Given the description of an element on the screen output the (x, y) to click on. 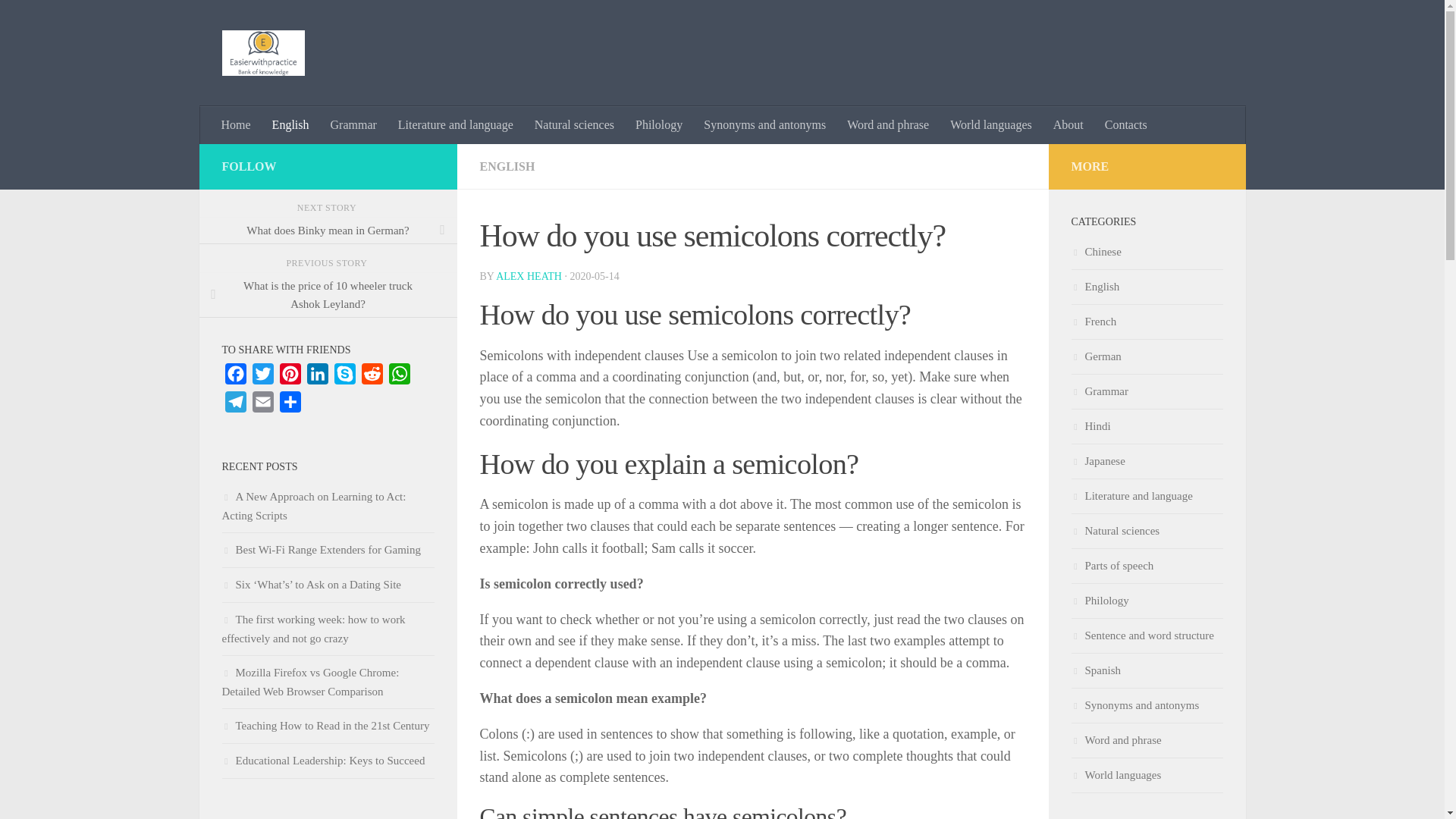
Natural sciences (574, 125)
What does Binky mean in German? (327, 230)
English (291, 125)
ENGLISH (506, 165)
Contacts (1125, 125)
Twitter (262, 377)
ALEX HEATH (529, 276)
Skype (344, 377)
Grammar (353, 125)
Home (236, 125)
Word and phrase (887, 125)
Philology (658, 125)
Posts by Alex Heath (529, 276)
World languages (990, 125)
Reddit (371, 377)
